Given the description of an element on the screen output the (x, y) to click on. 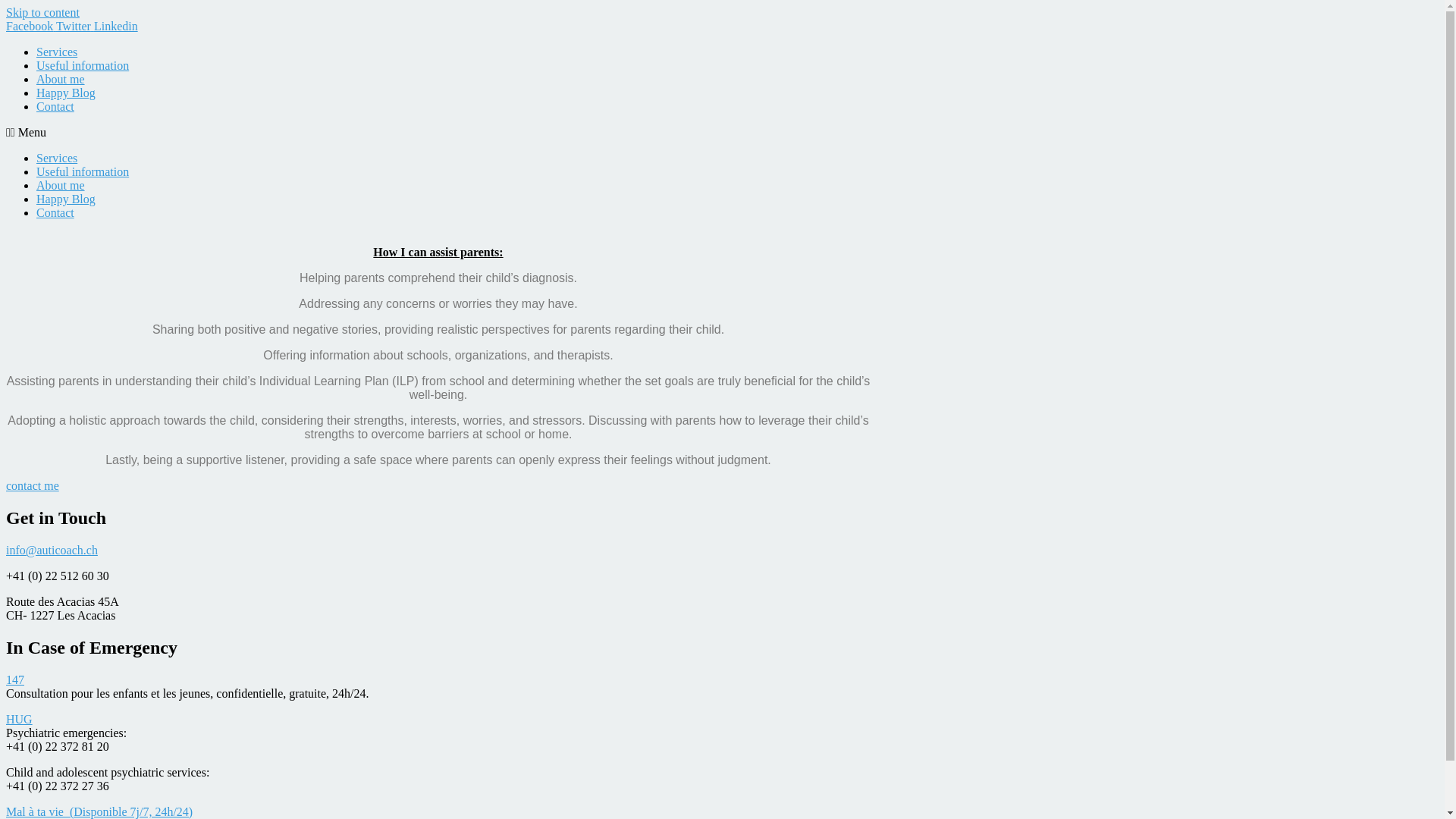
Skip to content Element type: text (42, 12)
Useful information Element type: text (82, 65)
About me Element type: text (60, 78)
Twitter Element type: text (75, 25)
147 Element type: text (15, 679)
Facebook Element type: text (31, 25)
Linkedin Element type: text (116, 25)
About me Element type: text (60, 184)
info@auticoach.ch Element type: text (51, 549)
Useful information Element type: text (82, 171)
Happy Blog Element type: text (65, 198)
Happy Blog Element type: text (65, 92)
Services Element type: text (56, 157)
contact me Element type: text (32, 485)
Services Element type: text (56, 51)
Contact Element type: text (55, 106)
HUG Element type: text (19, 718)
Contact Element type: text (55, 212)
